Given the description of an element on the screen output the (x, y) to click on. 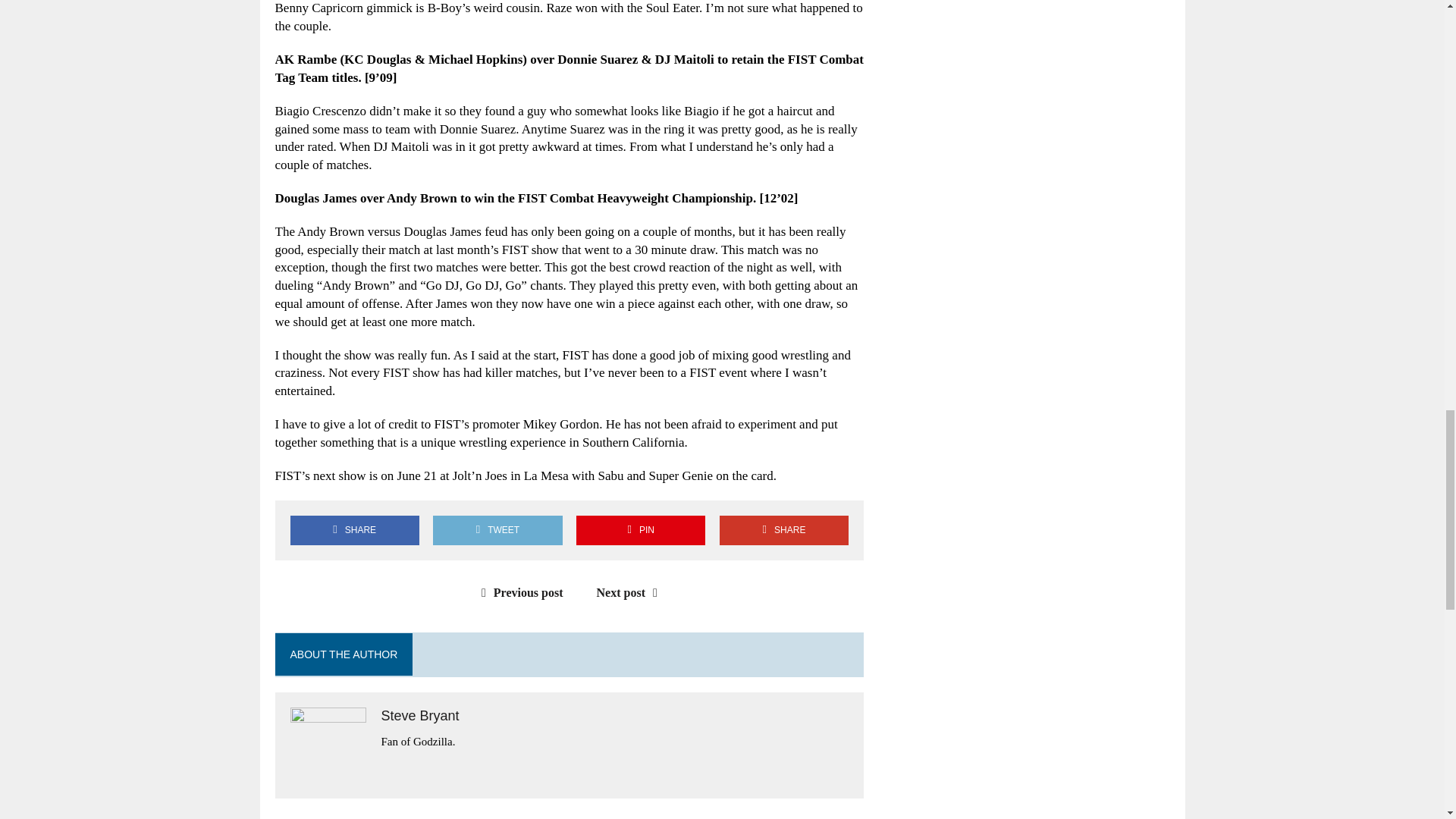
TWEET (497, 530)
PIN (640, 530)
Share on Facebook (354, 530)
SHARE (783, 530)
SHARE (354, 530)
Tweet This Post (497, 530)
Pin This Post (640, 530)
